Given the description of an element on the screen output the (x, y) to click on. 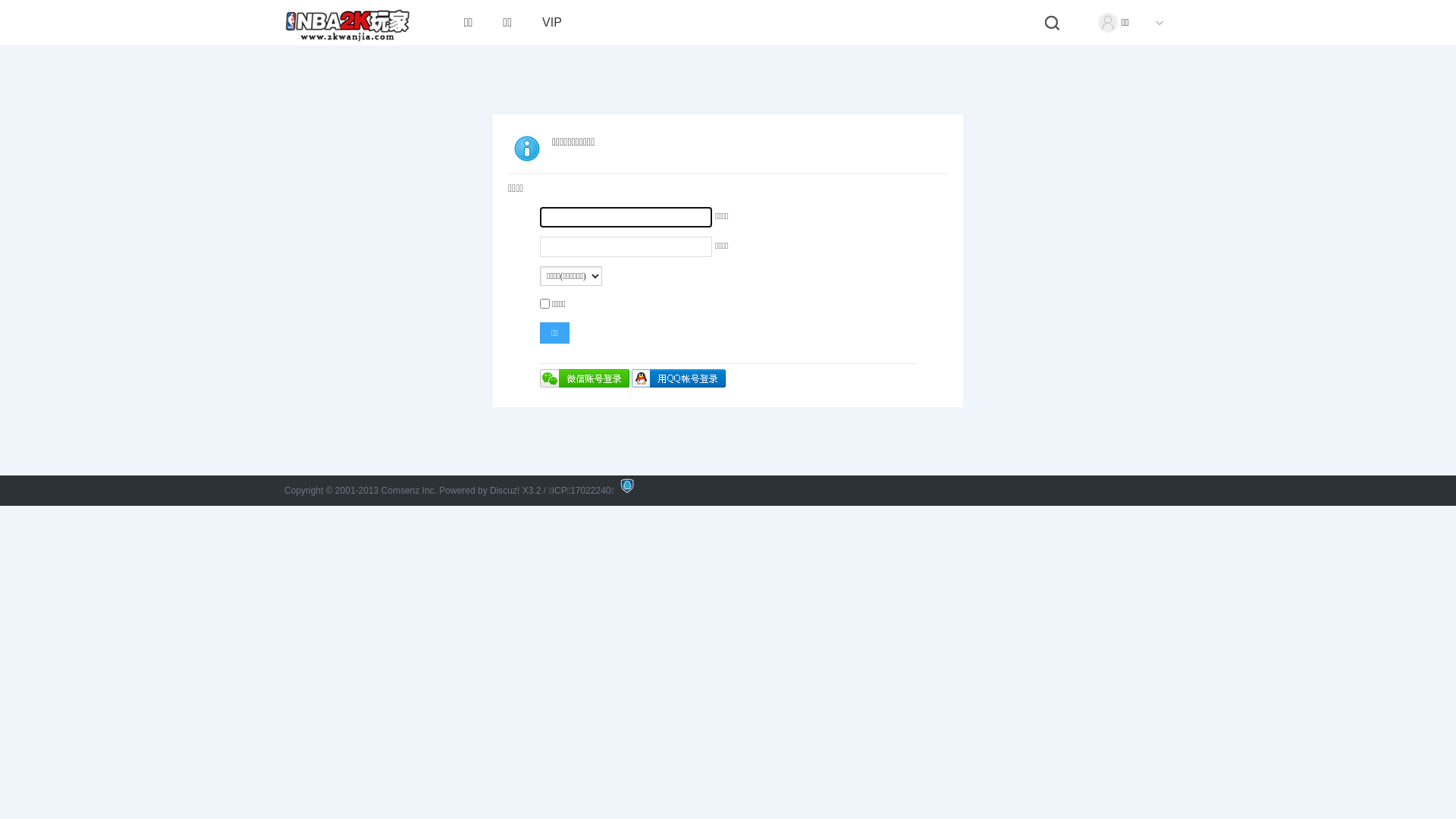
Discuz! Element type: text (504, 490)
VIP Element type: text (552, 22)
Comsenz Inc. Element type: text (410, 490)
